Given the description of an element on the screen output the (x, y) to click on. 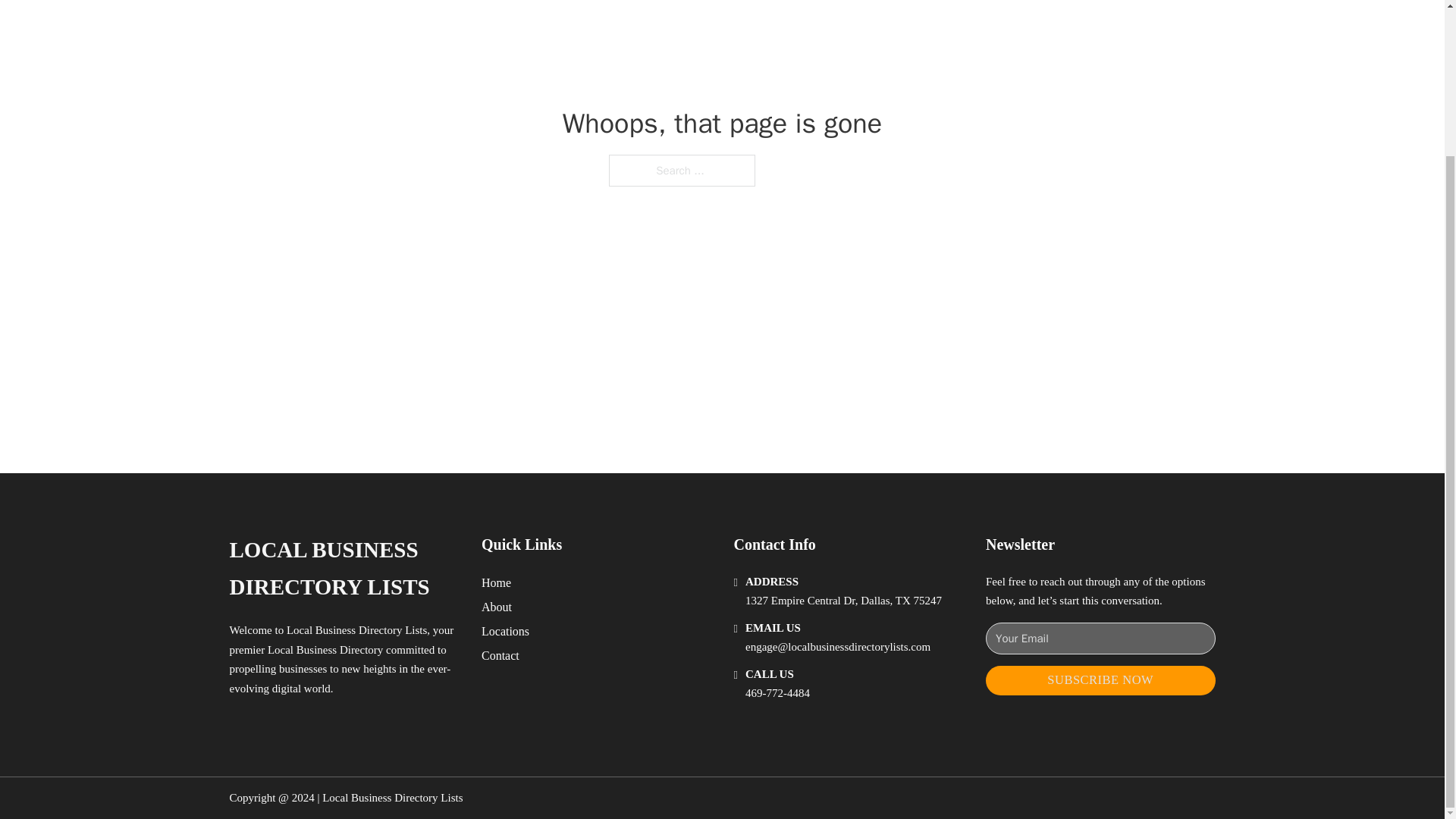
SUBSCRIBE NOW (1100, 680)
Home (496, 582)
469-772-4484 (777, 693)
Locations (505, 630)
Contact (500, 655)
About (496, 607)
LOCAL BUSINESS DIRECTORY LISTS (343, 568)
